Given the description of an element on the screen output the (x, y) to click on. 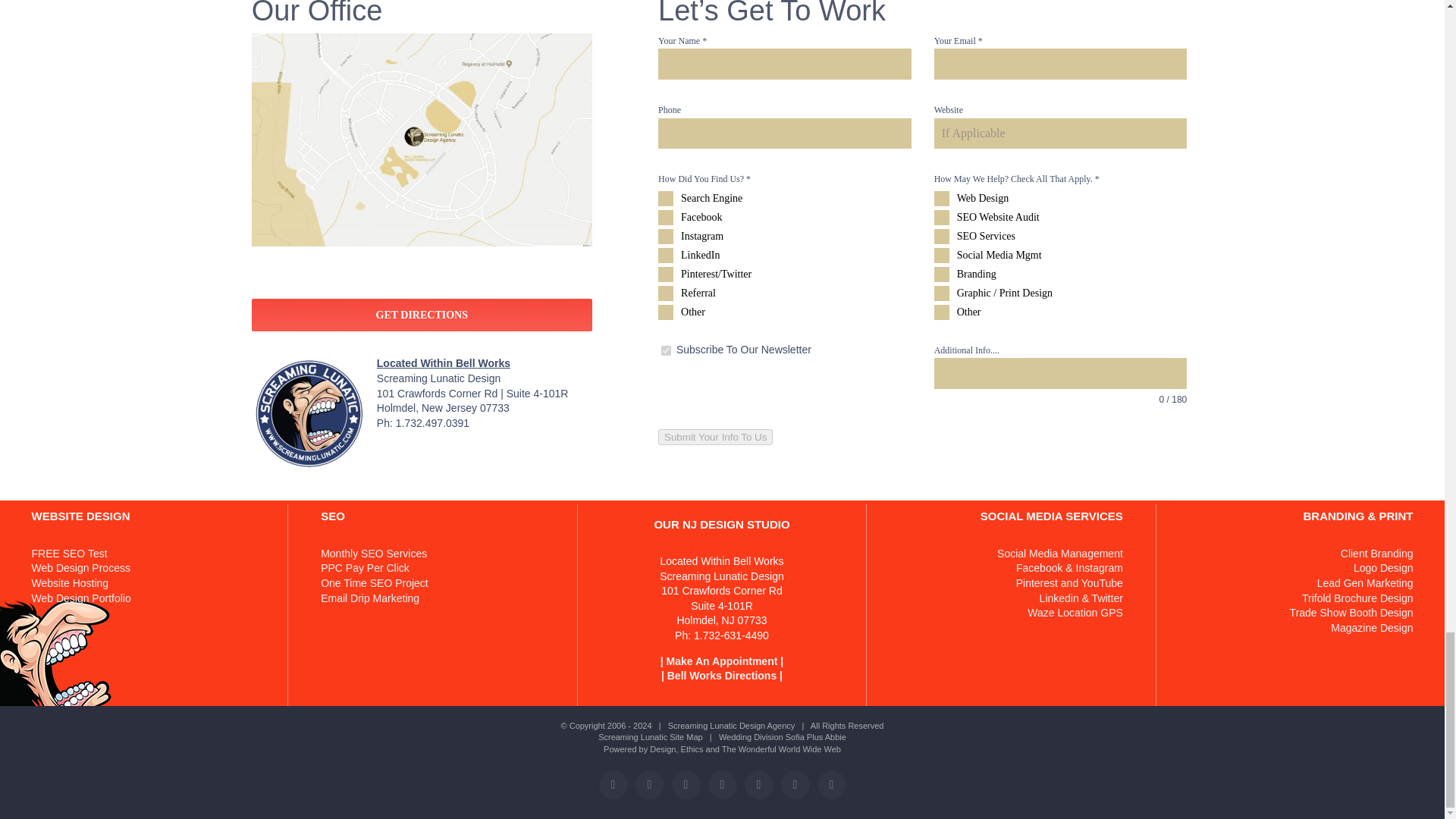
Car (666, 350)
